Given the description of an element on the screen output the (x, y) to click on. 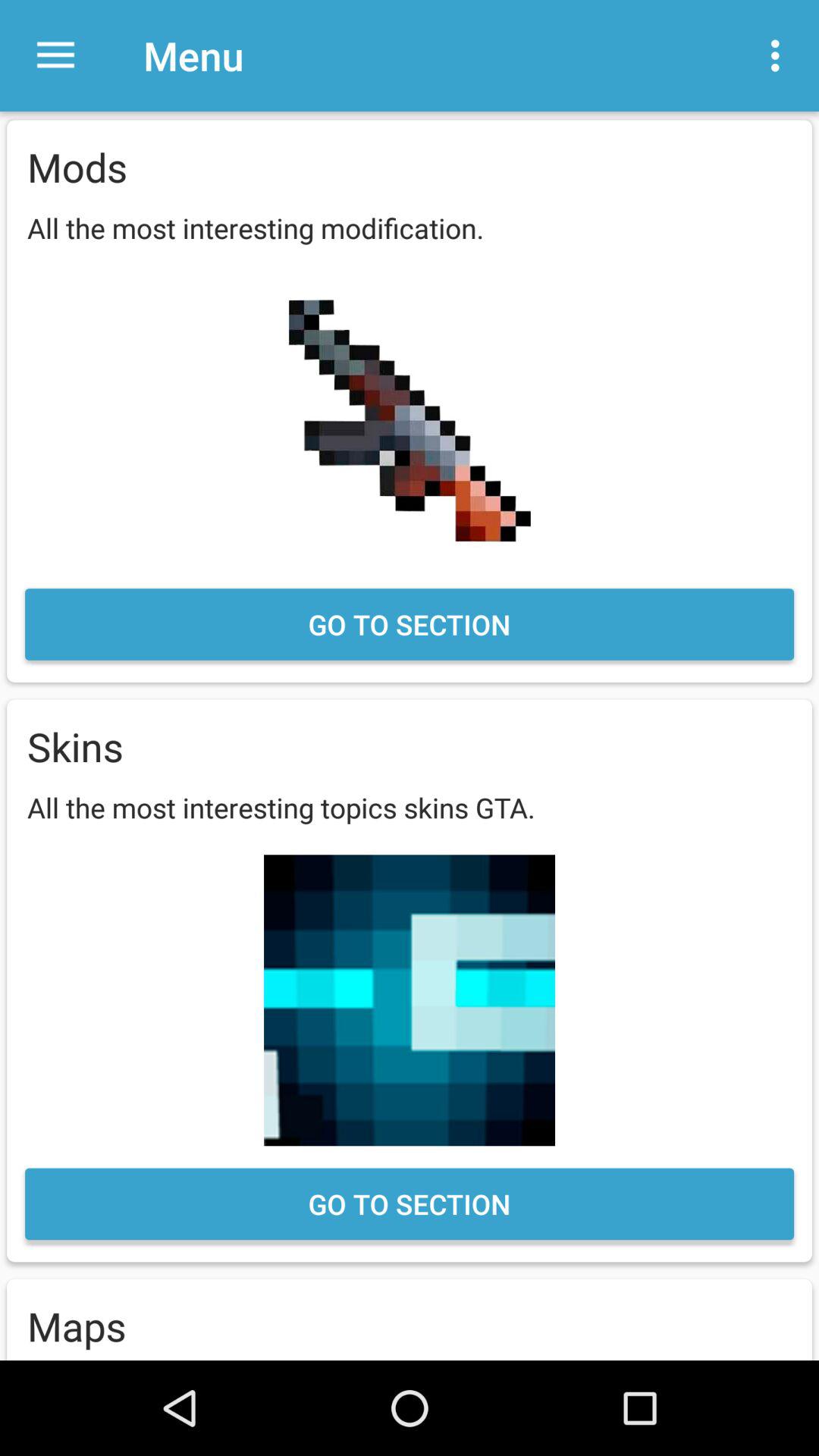
click item to the left of the menu item (55, 55)
